Given the description of an element on the screen output the (x, y) to click on. 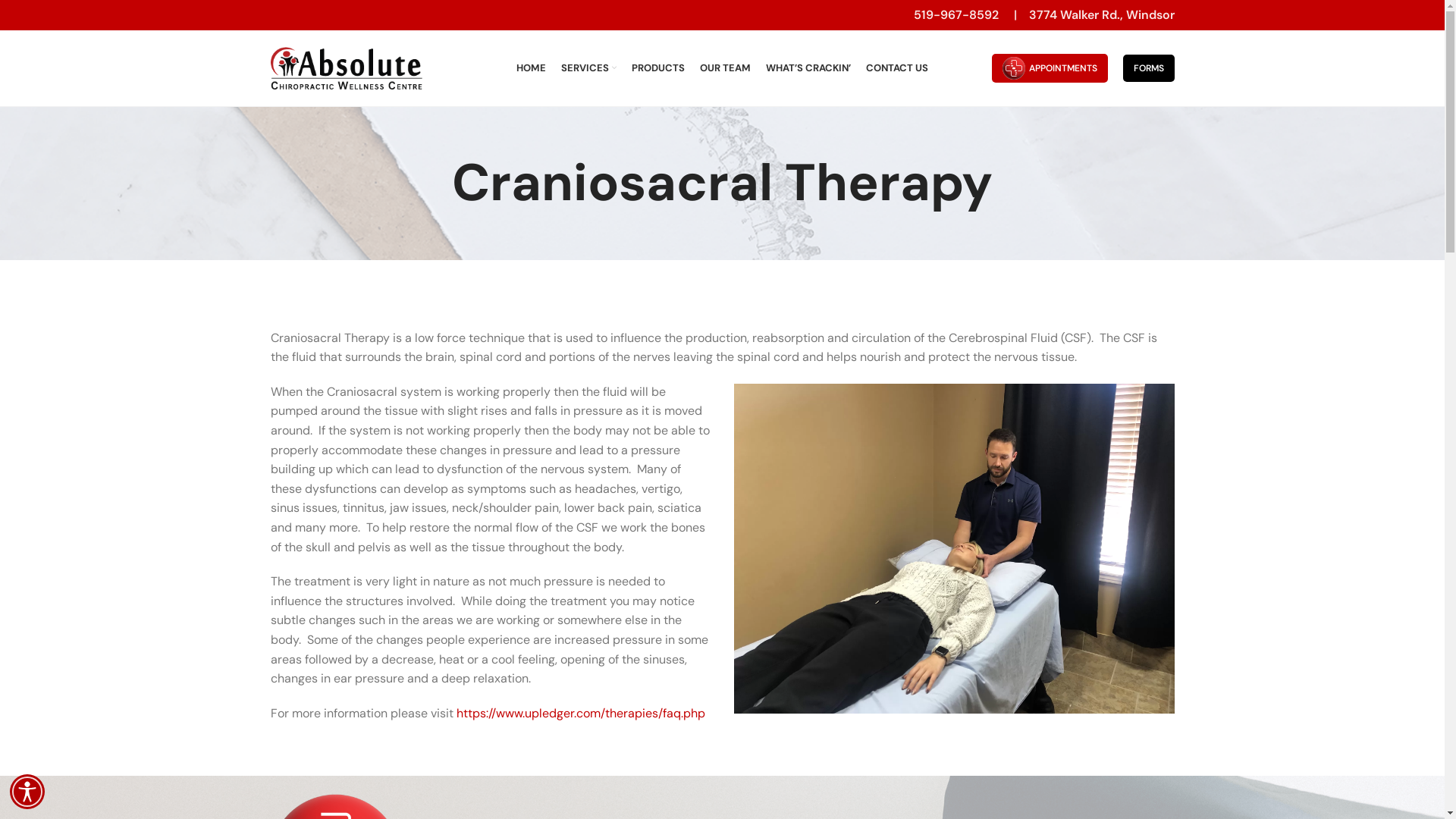
OUR TEAM Element type: text (724, 68)
519-967-8592 Element type: text (955, 14)
CONTACT US Element type: text (897, 68)
https://www.upledger.com/therapies/faq.php Element type: text (580, 713)
FORMS Element type: text (1147, 67)
3774 Walker Rd., Windsor Element type: text (1100, 14)
SERVICES Element type: text (588, 68)
PRODUCTS Element type: text (657, 68)
HOME Element type: text (531, 68)
APPOINTMENTS Element type: text (1049, 67)
